Given the description of an element on the screen output the (x, y) to click on. 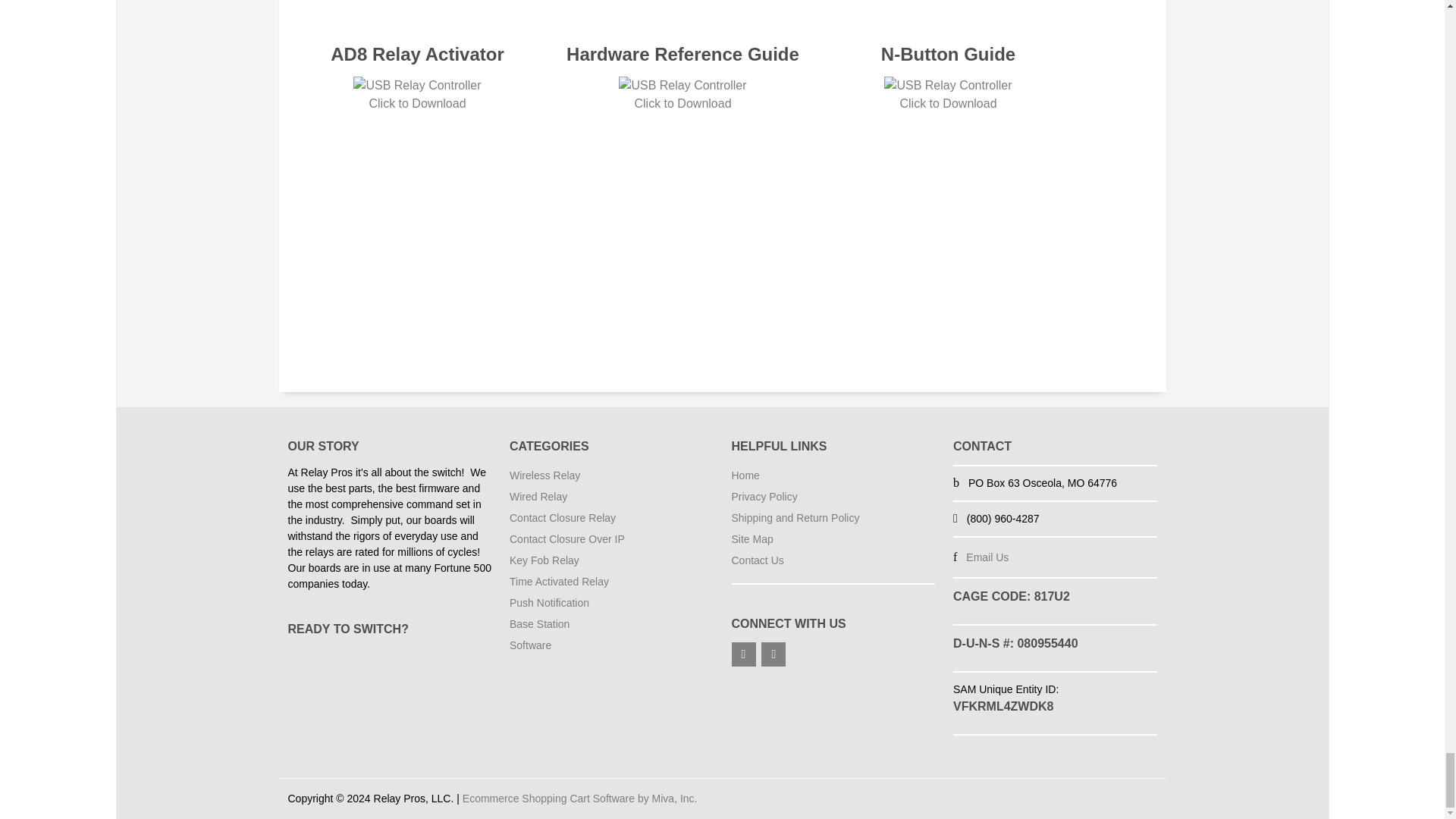
Facebook (742, 654)
YouTube (773, 654)
Ecommerce Shopping Cart Software by Miva Merchant (580, 798)
